Given the description of an element on the screen output the (x, y) to click on. 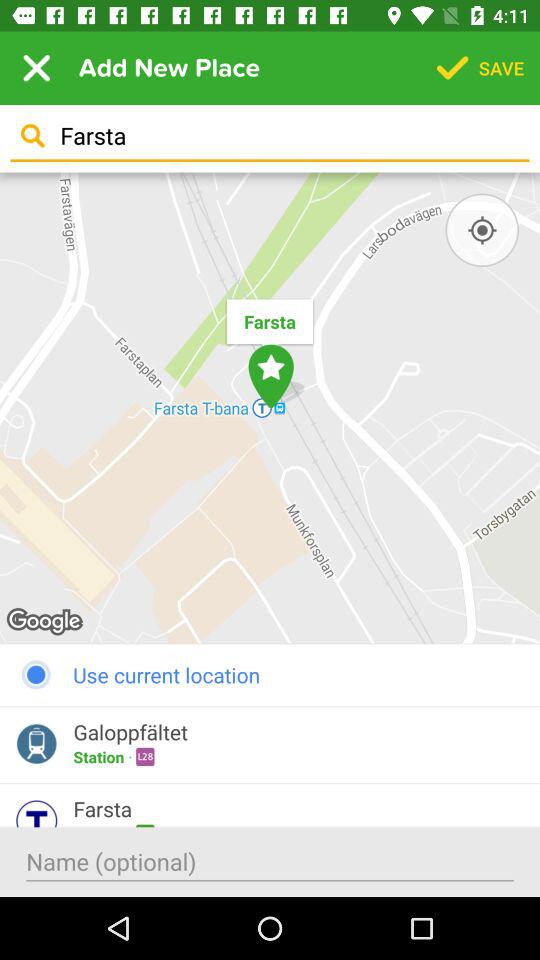
current location (482, 230)
